Given the description of an element on the screen output the (x, y) to click on. 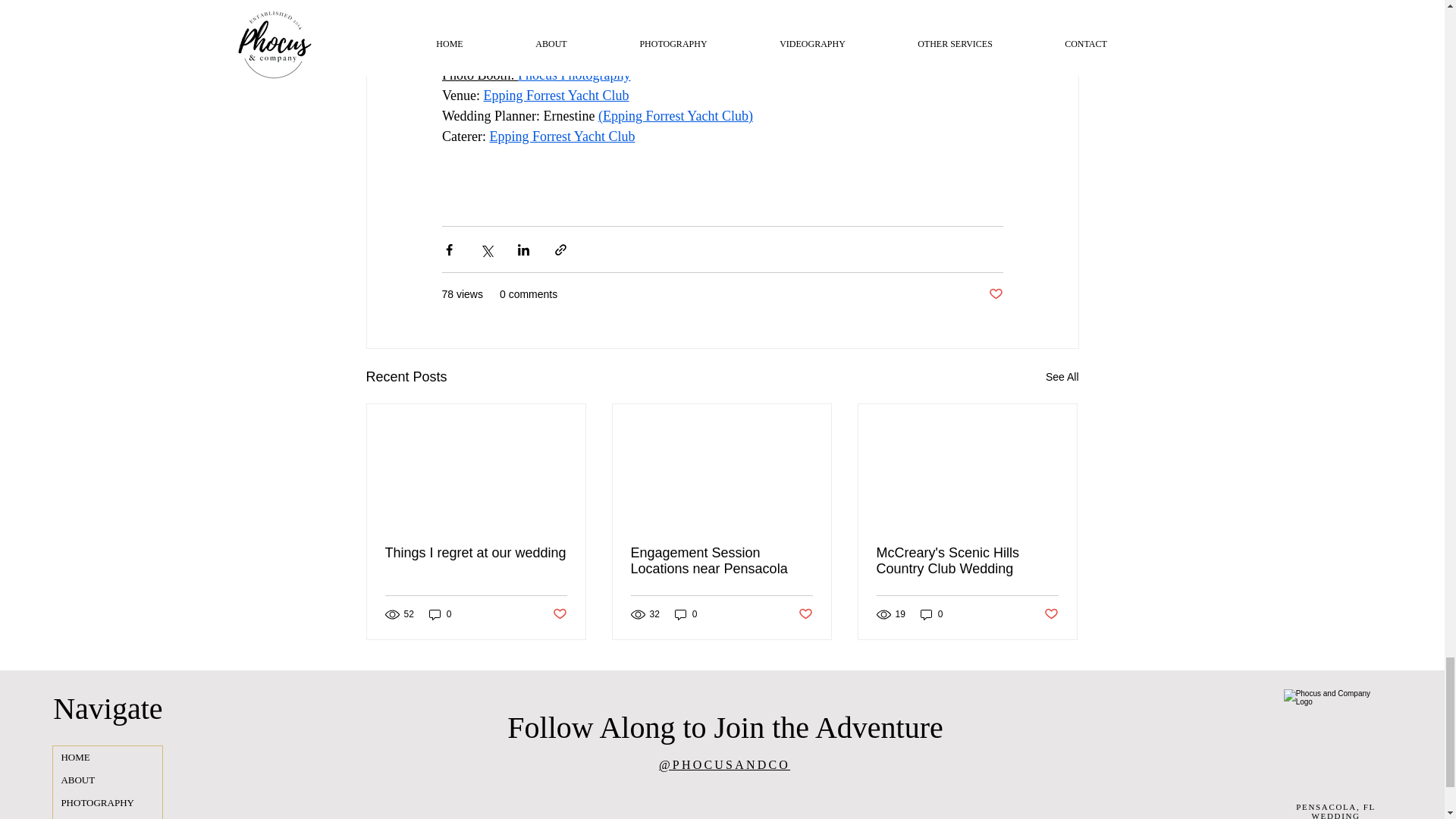
Phocus Photography (574, 74)
0 (685, 614)
See All (1061, 377)
Epping Forrest Yacht Club (561, 136)
Epping Forrest Yacht Club (555, 95)
Things I regret at our wedding (476, 553)
ABOUT (106, 780)
Post not marked as liked (1050, 614)
McCreary's Scenic Hills Country Club Wedding (967, 561)
Engagement Session Locations near Pensacola (721, 561)
